Given the description of an element on the screen output the (x, y) to click on. 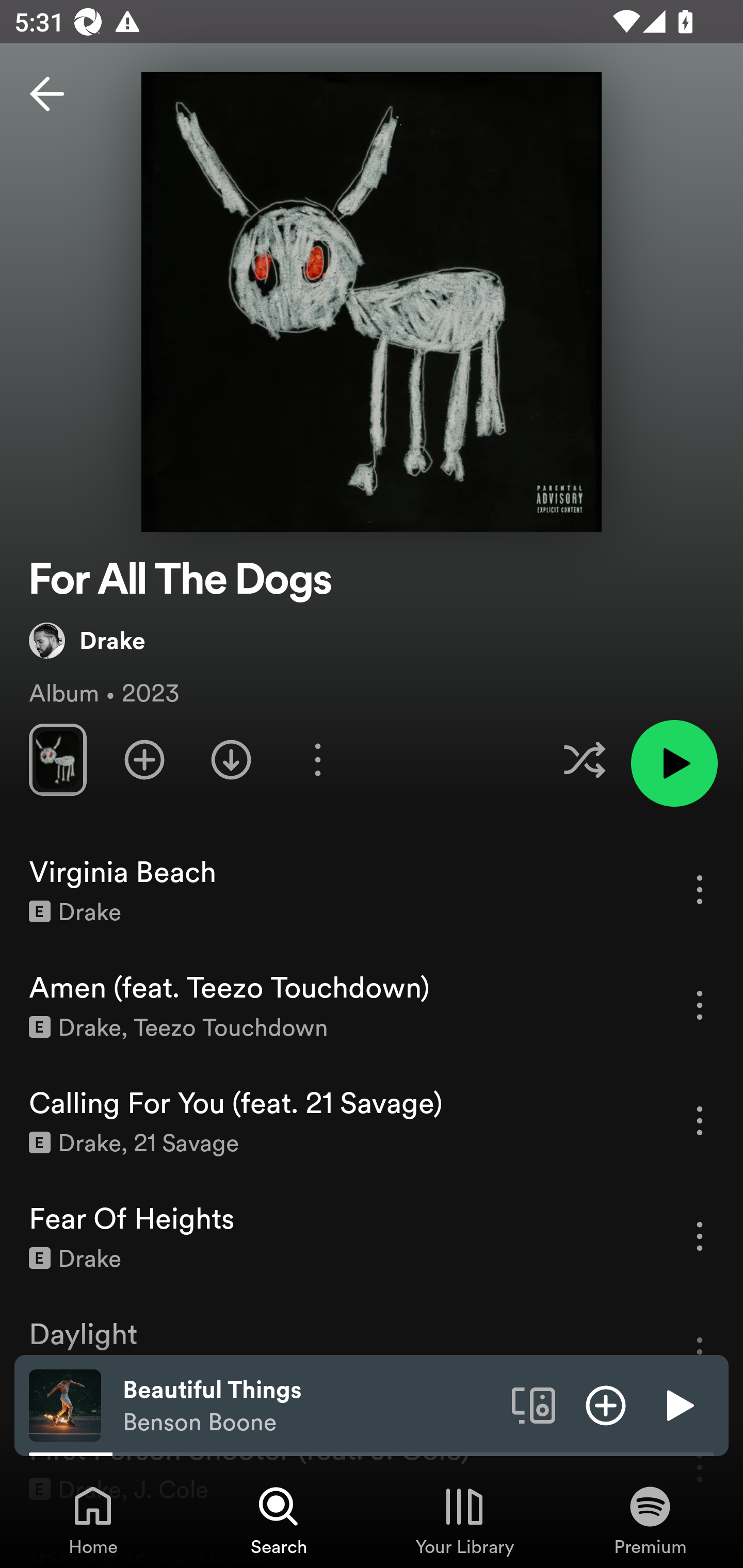
Back (46, 93)
Drake (86, 640)
Swipe through previews of tracks from this album. (57, 759)
Add playlist to Your Library (144, 759)
Download (230, 759)
More options for playlist For All The Dogs (317, 759)
Enable shuffle for this playlist (583, 759)
Play playlist (674, 763)
More options for song Virginia Beach (699, 889)
More options for song Amen (feat. Teezo Touchdown) (699, 1004)
More options for song Fear Of Heights (699, 1236)
Beautiful Things Benson Boone (309, 1405)
The cover art of the currently playing track (64, 1404)
Connect to a device. Opens the devices menu (533, 1404)
Add item (605, 1404)
Play (677, 1404)
Home, Tab 1 of 4 Home Home (92, 1519)
Search, Tab 2 of 4 Search Search (278, 1519)
Your Library, Tab 3 of 4 Your Library Your Library (464, 1519)
Premium, Tab 4 of 4 Premium Premium (650, 1519)
